Given the description of an element on the screen output the (x, y) to click on. 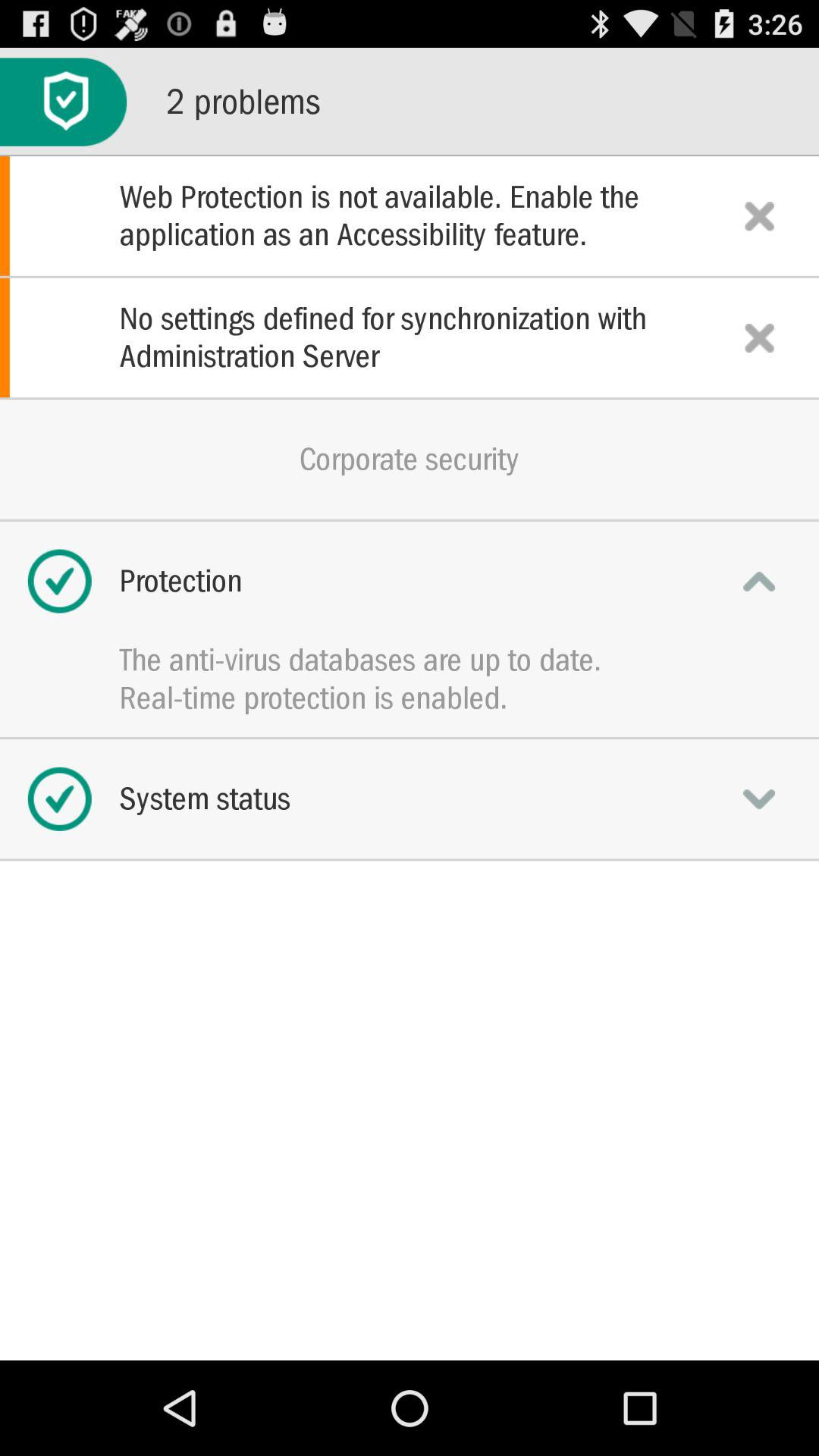
system status switch (759, 798)
